Given the description of an element on the screen output the (x, y) to click on. 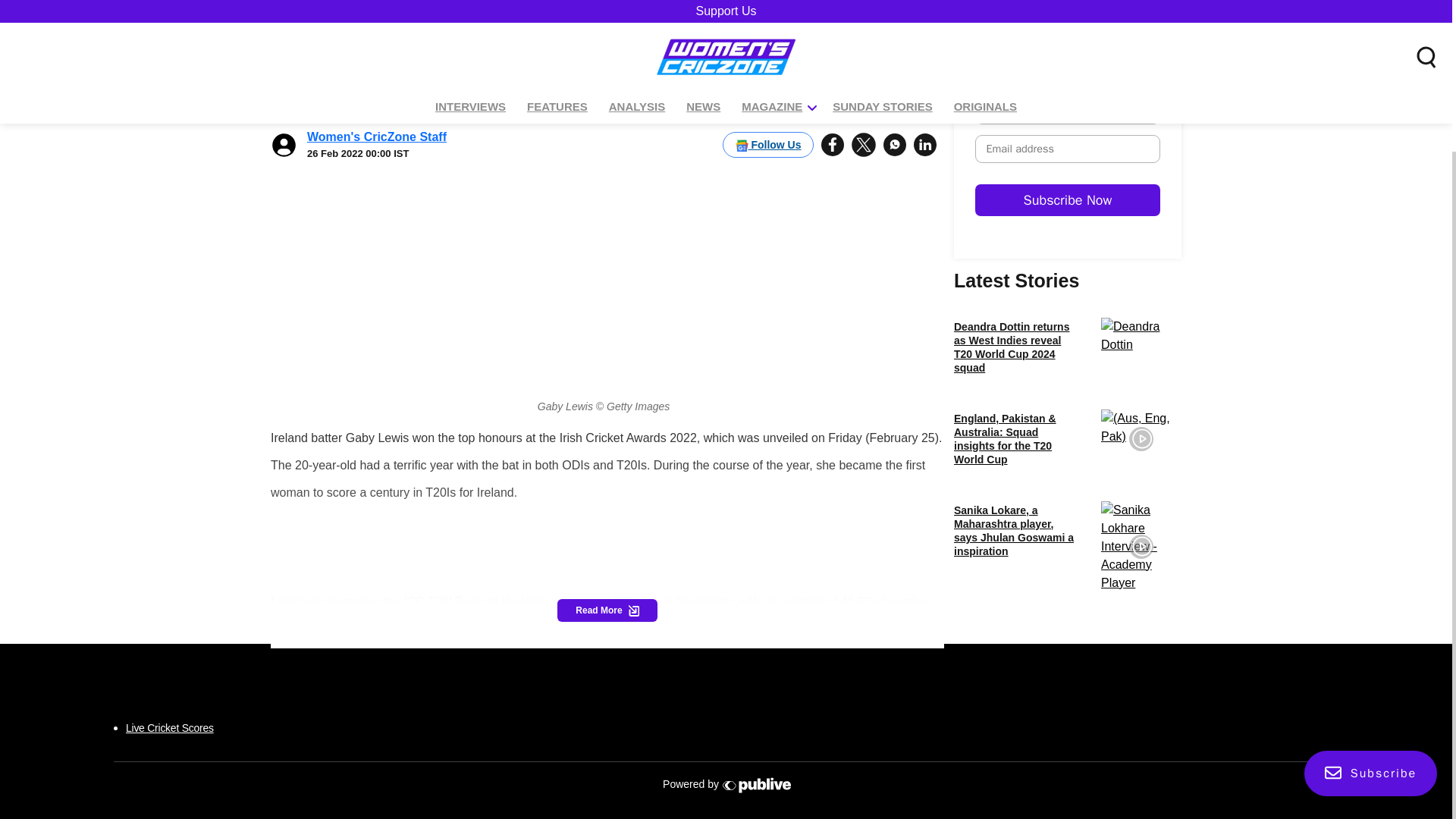
Women's CricZone Staff (376, 101)
Read More (606, 609)
Amy Hunter (478, 632)
Follow Us (767, 109)
Ireland (302, 632)
Gaby Lewis (383, 632)
Subscribe Now (1185, 243)
